Given the description of an element on the screen output the (x, y) to click on. 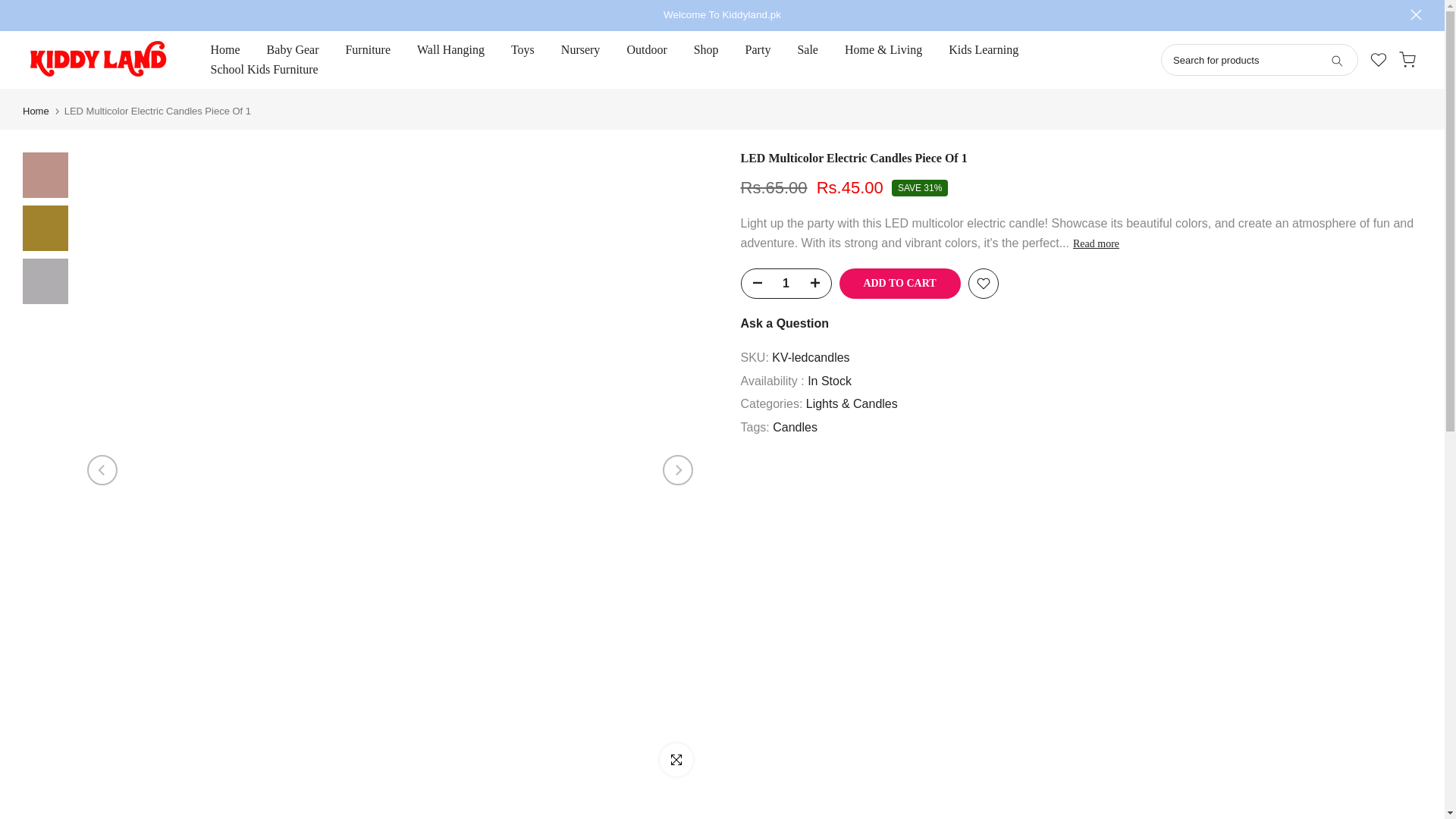
Skip to content (10, 7)
Home (224, 49)
Ask a Question (783, 323)
close (1416, 14)
Outdoor (645, 49)
Shop (705, 49)
Home (36, 111)
School Kids Furniture (263, 69)
Nursery (579, 49)
ADD TO CART (898, 283)
